Given the description of an element on the screen output the (x, y) to click on. 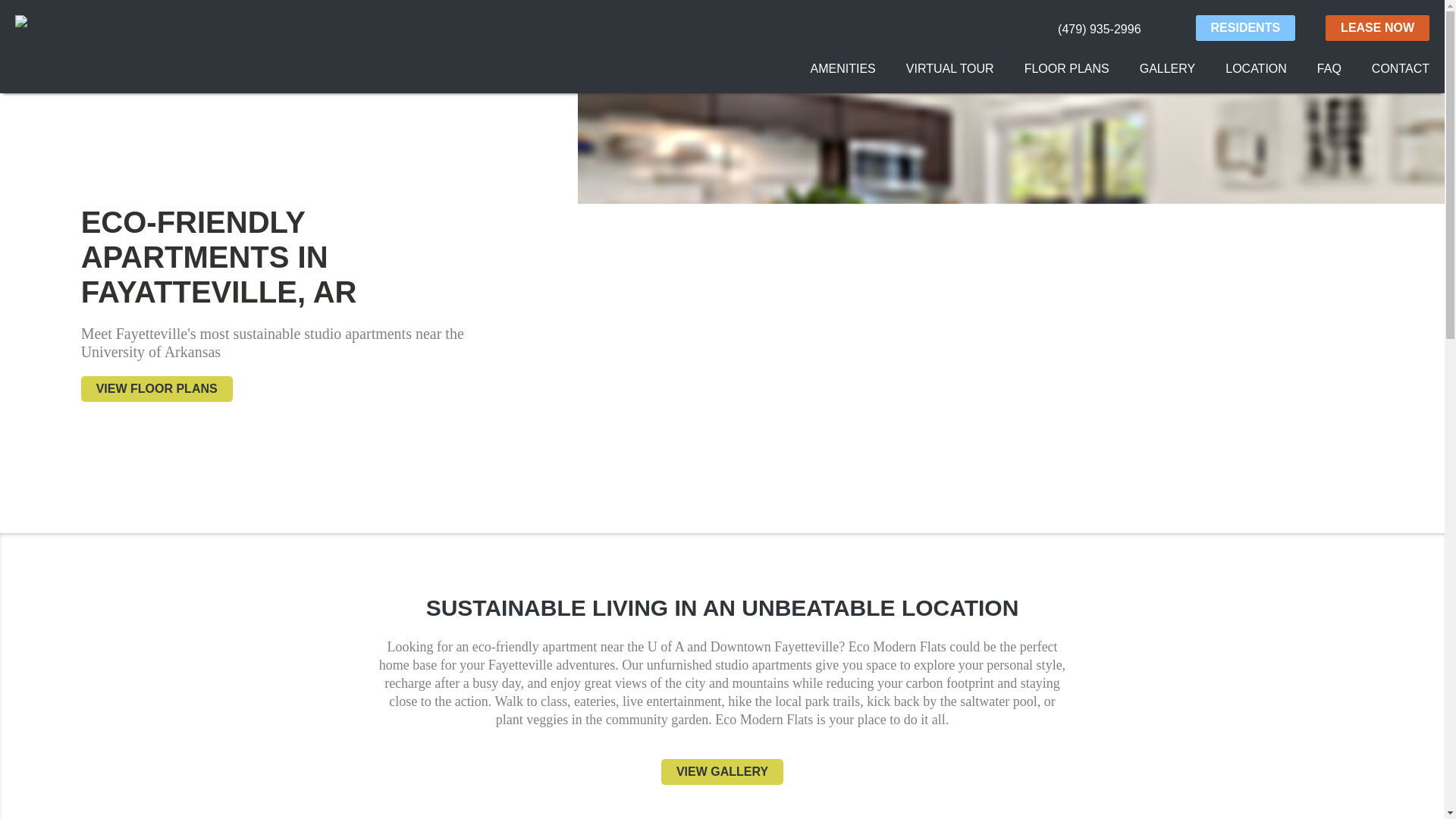
LEASE NOW (1376, 27)
LOCATION (1256, 68)
RESIDENTS (1245, 27)
FLOOR PLANS (1067, 68)
View Gallery (722, 771)
FAQ (1328, 68)
VIEW GALLERY (722, 771)
Lease Now (1376, 27)
VIEW FLOOR PLANS (156, 388)
VIEW FLOOR PLANS (156, 388)
